Given the description of an element on the screen output the (x, y) to click on. 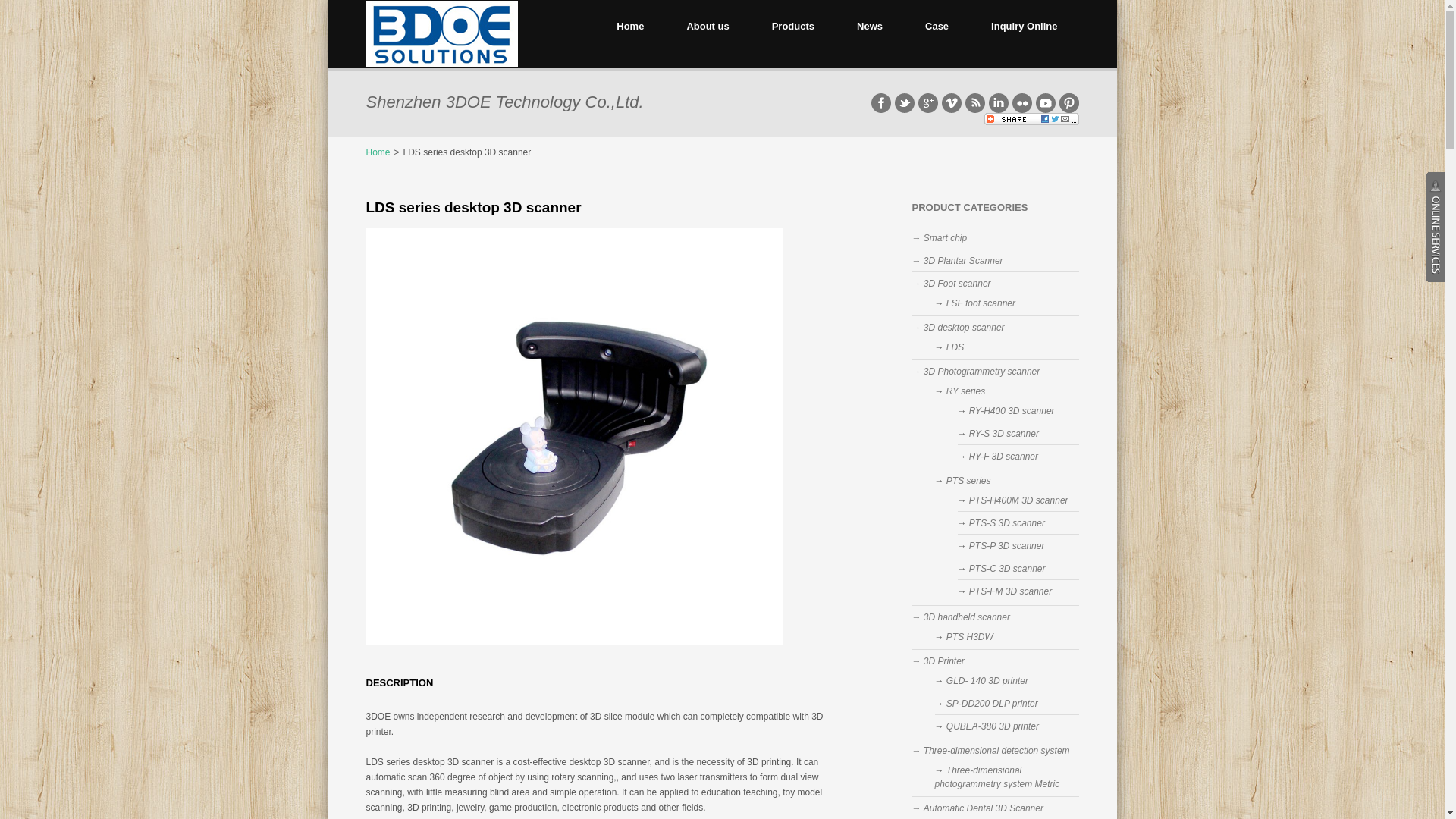
PTS-S 3D scanner Element type: text (1006, 522)
3D handheld scanner Element type: text (966, 616)
About us Element type: text (707, 34)
Case Element type: text (936, 34)
PTS-FM 3D scanner Element type: text (1010, 591)
3D Printer Element type: text (943, 660)
Smart chip Element type: text (944, 237)
Home Element type: text (377, 152)
Three-dimensional detection system Element type: text (996, 750)
Three-dimensional photogrammetry system Metric Element type: text (996, 777)
GLD- 140 3D printer Element type: text (987, 680)
PTS series Element type: text (968, 480)
PTS-P 3D scanner Element type: text (1006, 545)
RY-S 3D scanner Element type: text (1003, 433)
RY-H400 3D scanner Element type: text (1011, 410)
RY-F 3D scanner Element type: text (1003, 456)
3D Foot scanner Element type: text (957, 283)
Inquiry Online Element type: text (1023, 34)
SP-DD200 DLP printer Element type: text (992, 703)
PTS-H400M 3D scanner Element type: text (1018, 500)
3D desktop scanner Element type: text (963, 327)
News Element type: text (869, 34)
PTS-C 3D scanner Element type: text (1007, 568)
LDS series desktop 3D scanner Element type: text (472, 207)
LDS Element type: text (954, 347)
Home Element type: text (630, 34)
PTS H3DW Element type: text (969, 636)
QUBEA-380 3D printer Element type: text (992, 726)
LSF foot scanner Element type: text (980, 303)
Products Element type: text (792, 34)
Automatic Dental 3D Scanner Element type: text (983, 808)
RY series Element type: text (965, 390)
3D Photogrammetry scanner Element type: text (981, 371)
3D Plantar Scanner Element type: text (963, 260)
